Given the description of an element on the screen output the (x, y) to click on. 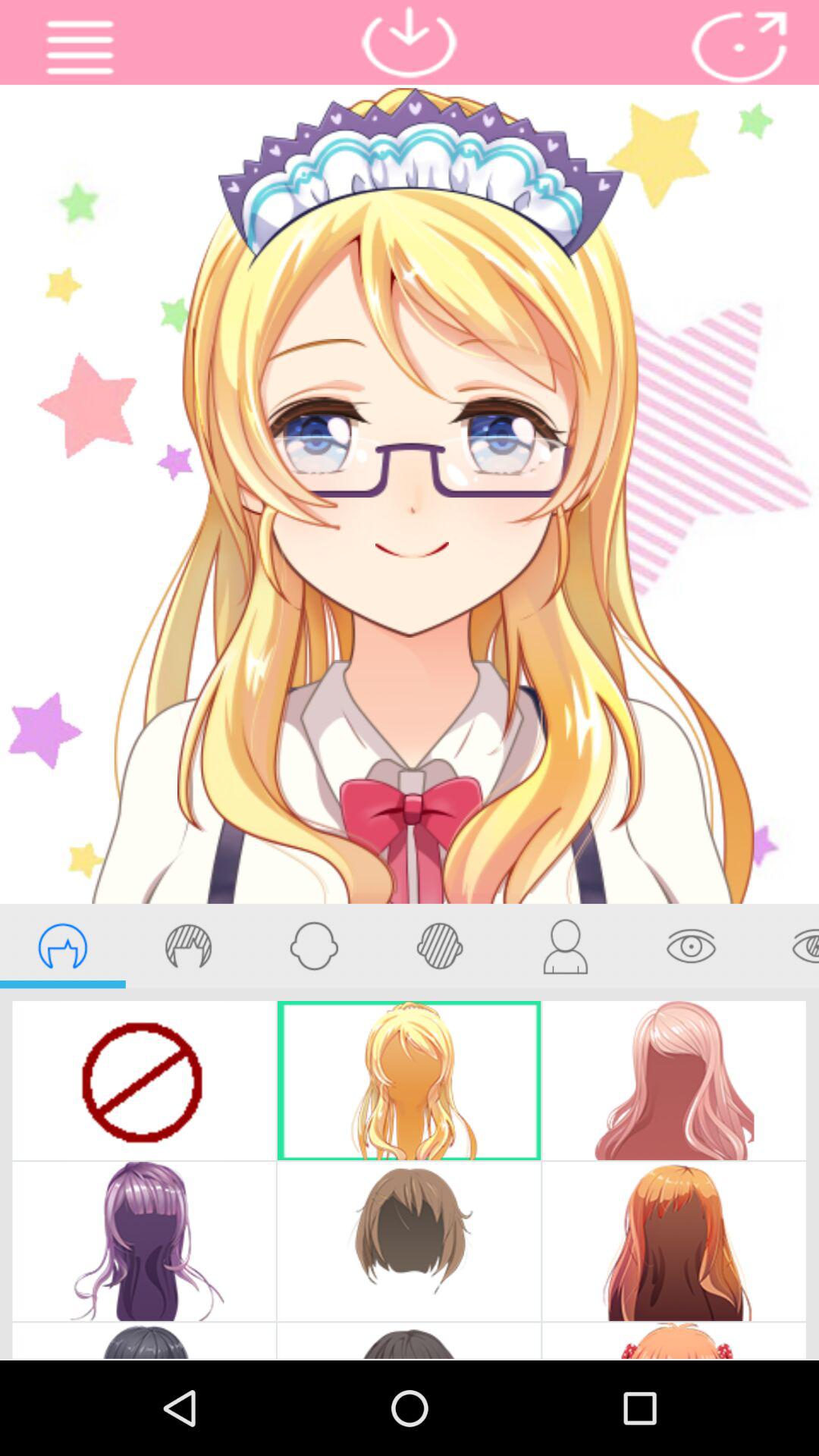
hairstyle (62, 945)
